Given the description of an element on the screen output the (x, y) to click on. 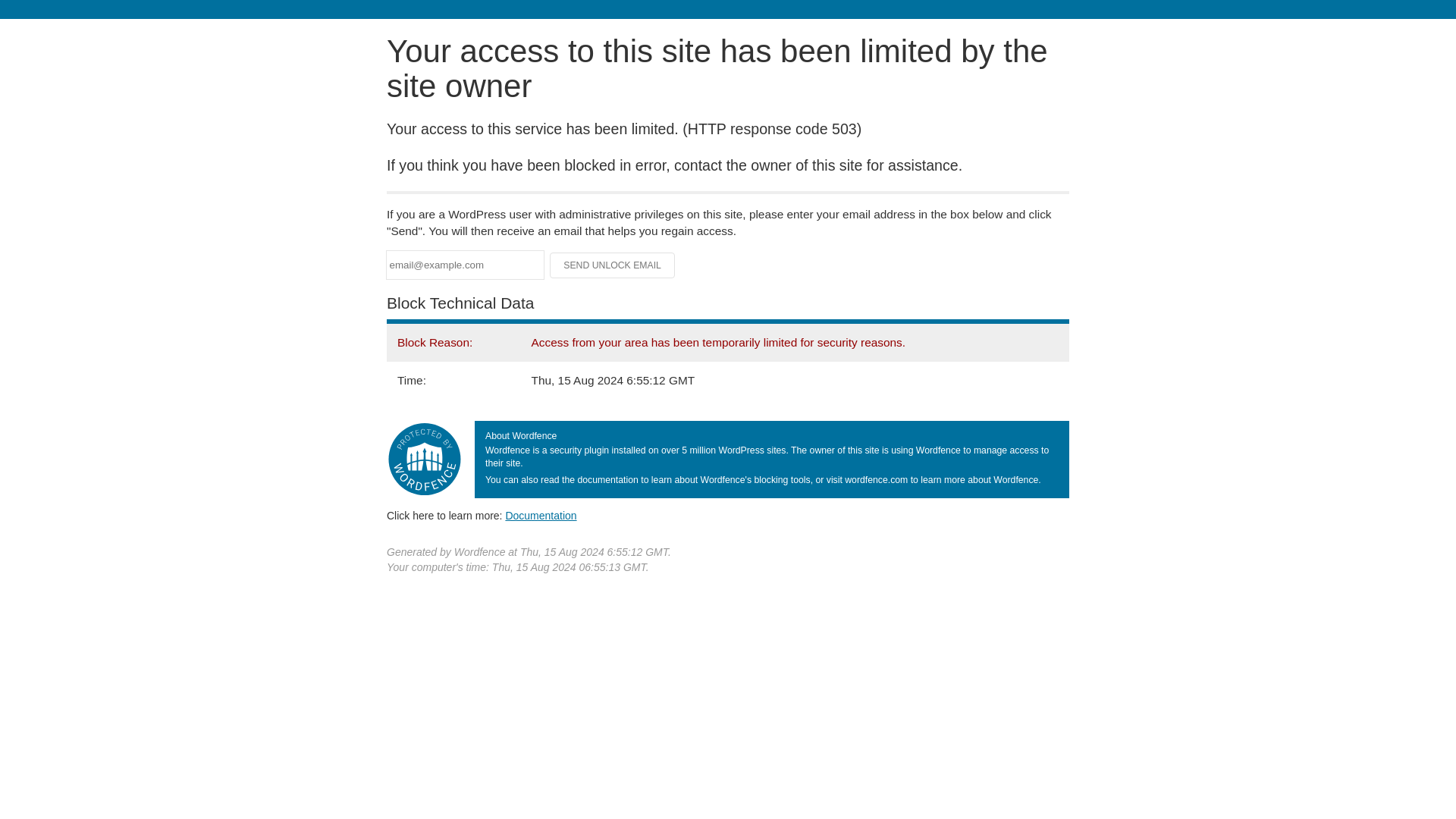
Documentation (540, 515)
Send Unlock Email (612, 265)
Send Unlock Email (612, 265)
